Given the description of an element on the screen output the (x, y) to click on. 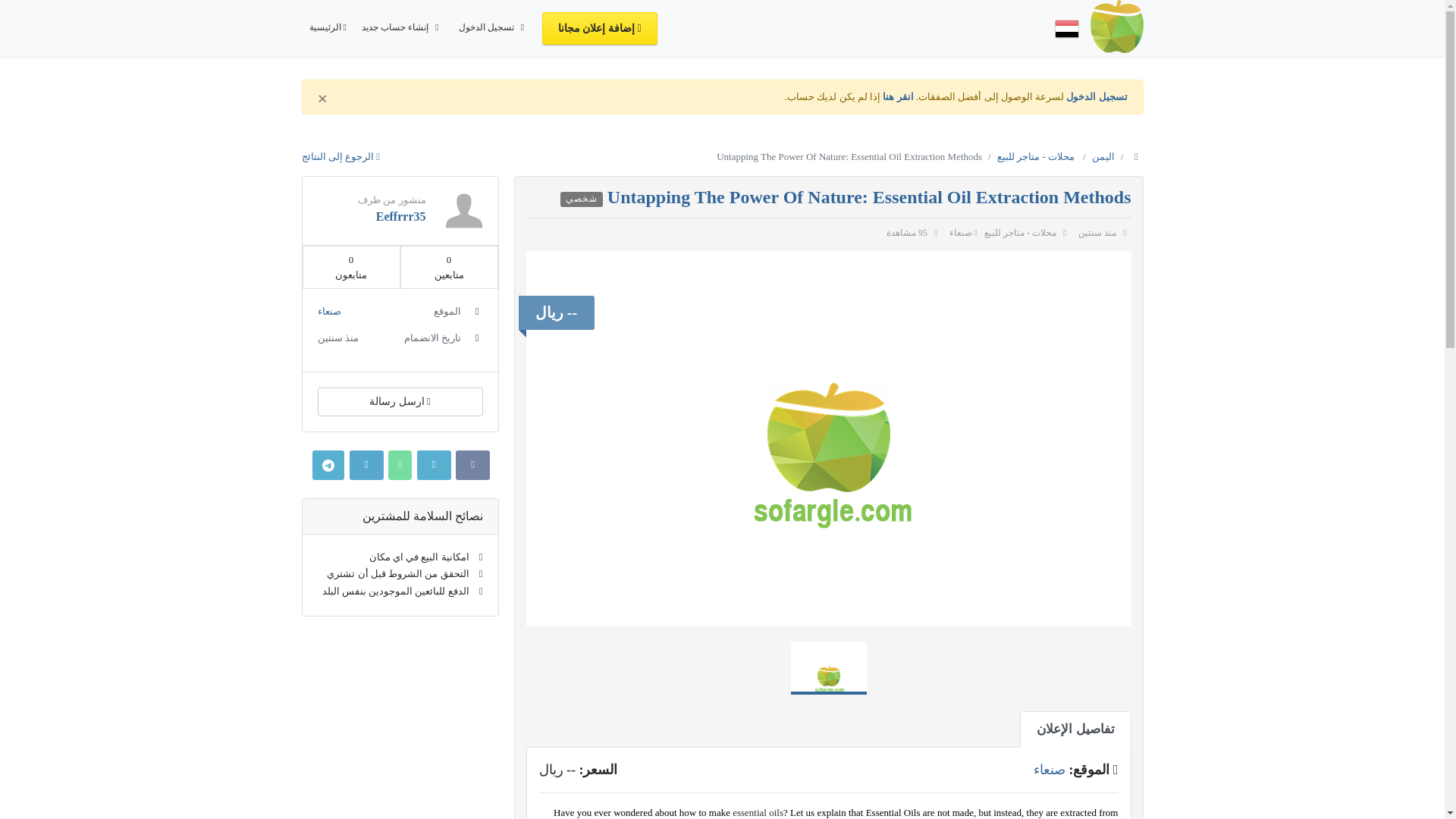
Eeffrrr35 (400, 215)
